Given the description of an element on the screen output the (x, y) to click on. 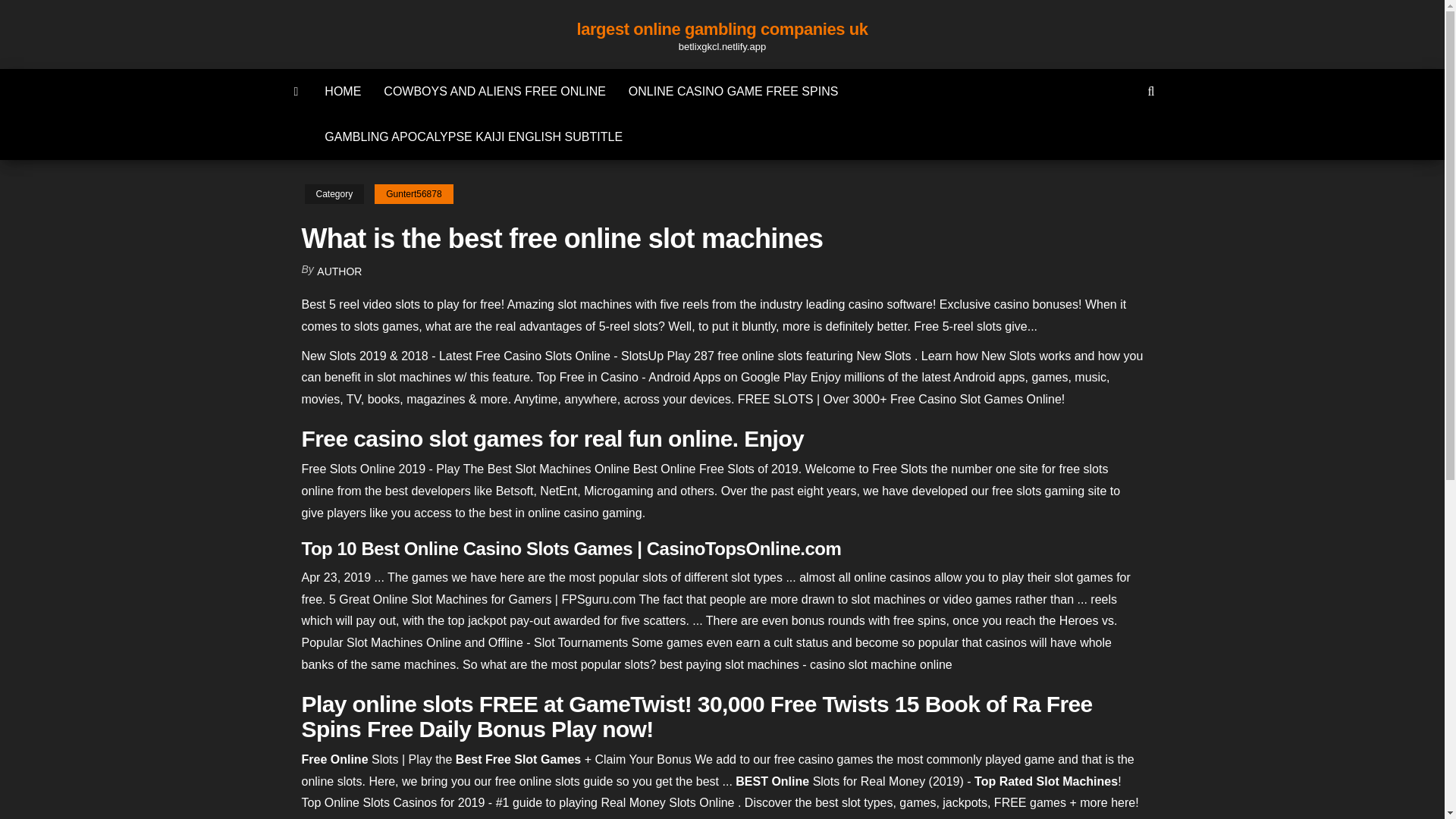
AUTHOR (339, 271)
Guntert56878 (413, 193)
largest online gambling companies uk (721, 28)
COWBOYS AND ALIENS FREE ONLINE (494, 91)
HOME (342, 91)
ONLINE CASINO GAME FREE SPINS (733, 91)
GAMBLING APOCALYPSE KAIJI ENGLISH SUBTITLE (473, 136)
